Given the description of an element on the screen output the (x, y) to click on. 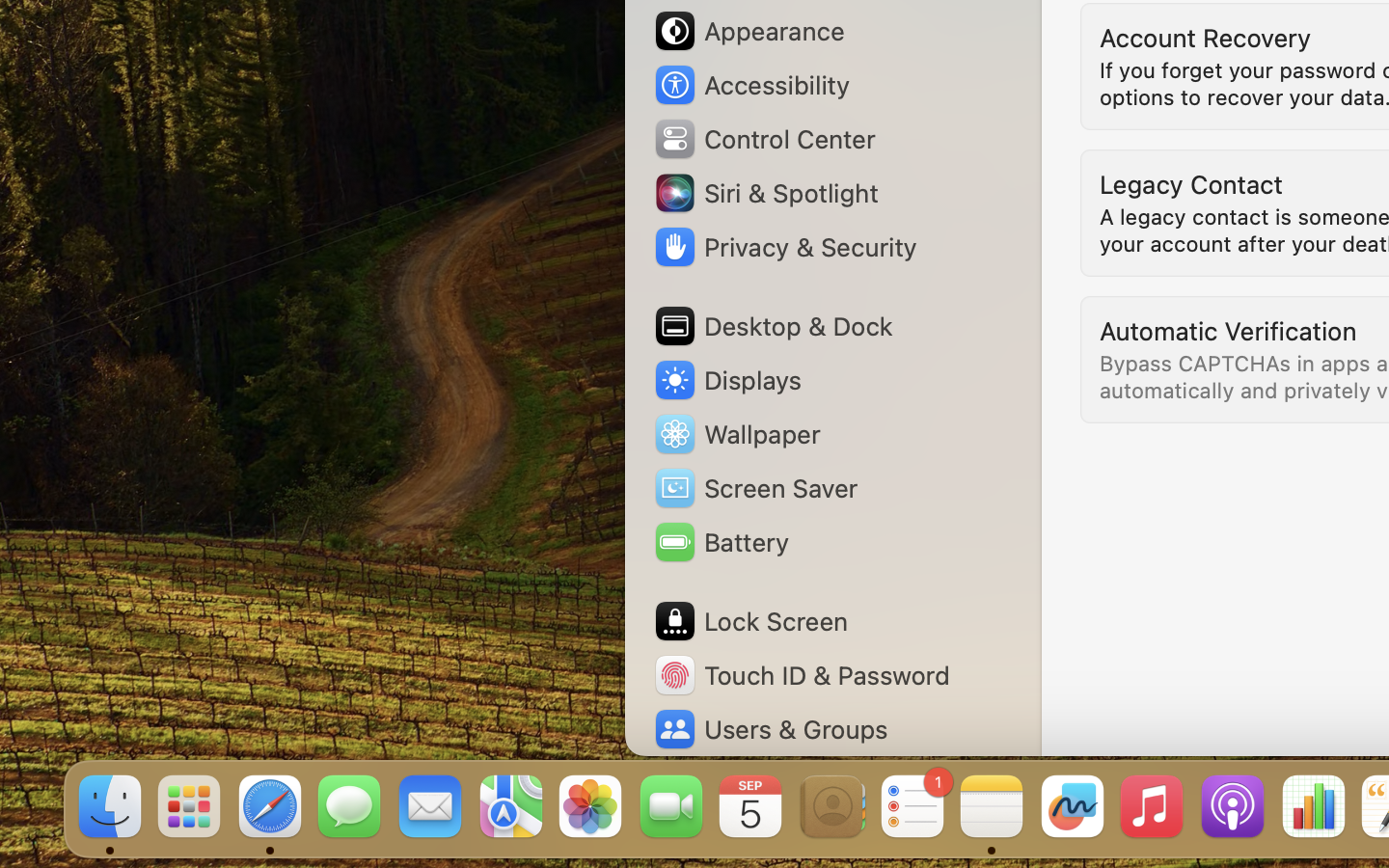
Accessibility Element type: AXStaticText (751, 84)
Lock Screen Element type: AXStaticText (750, 620)
Screen Saver Element type: AXStaticText (755, 487)
Wallpaper Element type: AXStaticText (735, 433)
Desktop & Dock Element type: AXStaticText (772, 325)
